Given the description of an element on the screen output the (x, y) to click on. 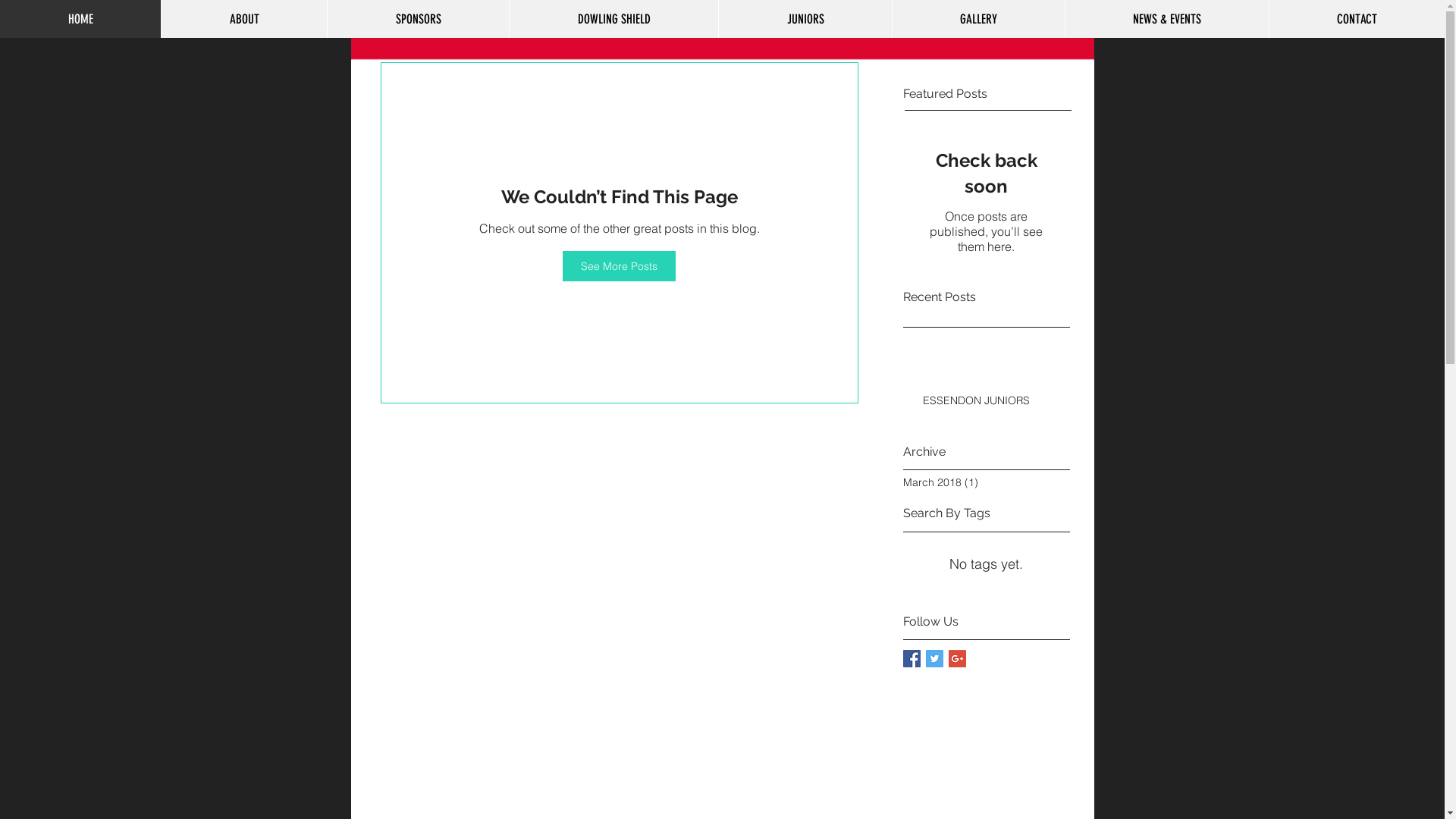
DOWLING SHIELD Element type: text (613, 18)
GALLERY Element type: text (977, 18)
See More Posts Element type: text (618, 266)
HOME Element type: text (80, 18)
JUNIORS Element type: text (804, 18)
SPONSORS Element type: text (417, 18)
NEWS & EVENTS Element type: text (1166, 18)
March 2018 (1) Element type: text (981, 482)
ESSENDON JUNIORS Element type: text (991, 403)
CONTACT Element type: text (1356, 18)
